Given the description of an element on the screen output the (x, y) to click on. 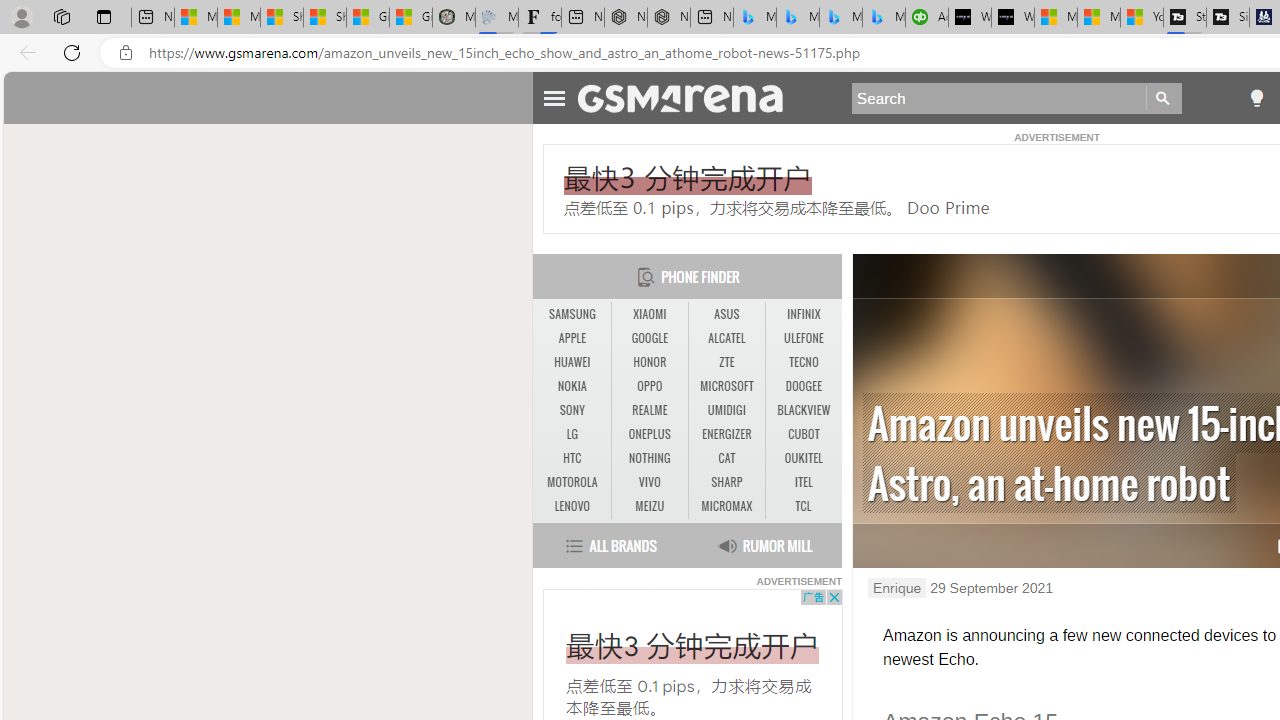
VIVO (649, 482)
REALME (649, 410)
Microsoft Bing Travel - Stays in Bangkok, Bangkok, Thailand (798, 17)
ULEFONE (803, 338)
ENERGIZER (726, 434)
SAMSUNG (571, 314)
XIAOMI (649, 313)
HUAWEI (571, 362)
Manatee Mortality Statistics | FWC (453, 17)
XIAOMI (649, 314)
MICROSOFT (726, 386)
Streaming Coverage | T3 (1184, 17)
SONY (571, 410)
DOOGEE (803, 385)
